Given the description of an element on the screen output the (x, y) to click on. 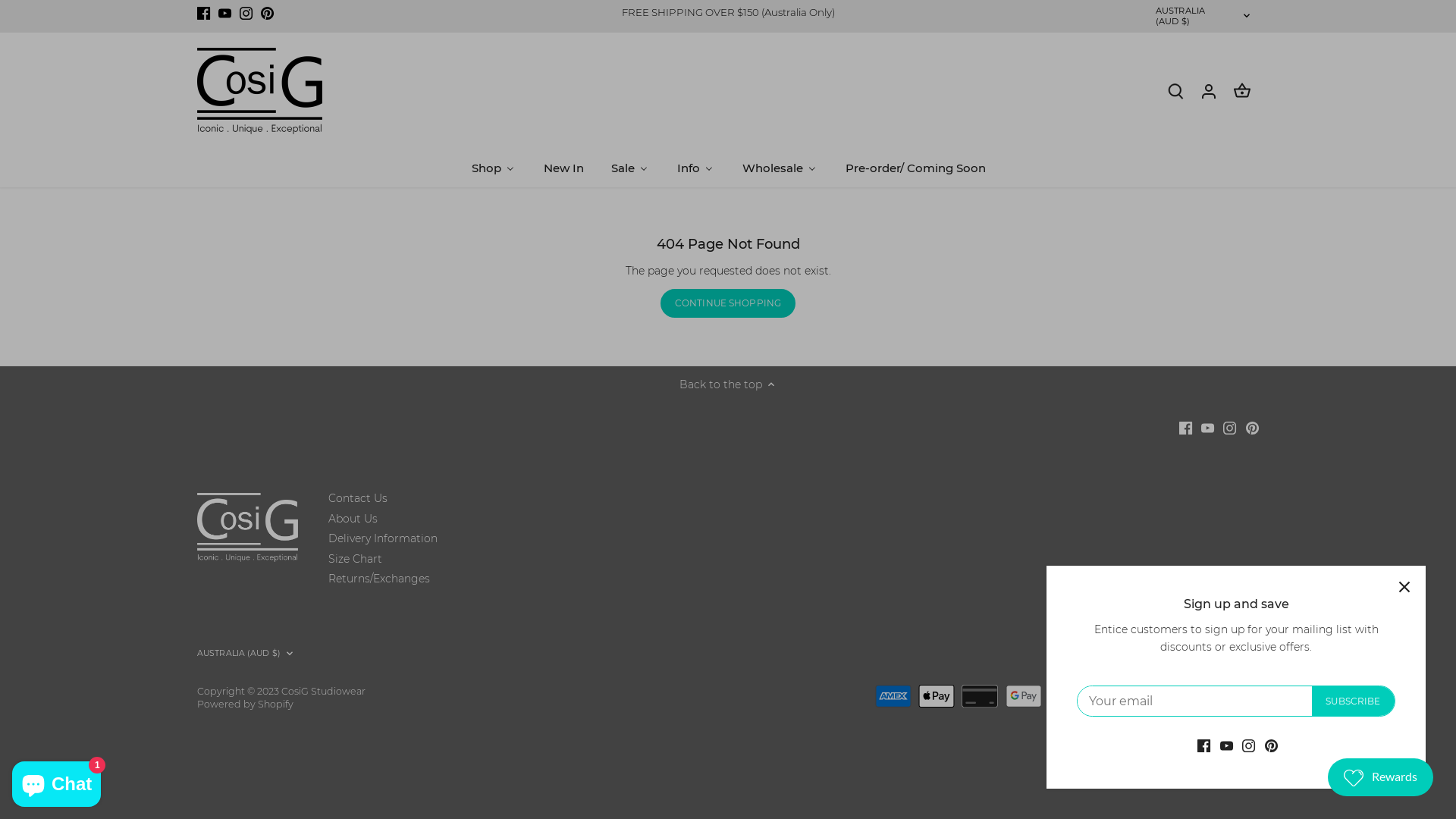
Delivery Information Element type: text (382, 538)
CONTINUE SHOPPING Element type: text (727, 302)
About Us Element type: text (352, 518)
Sale Element type: text (629, 168)
Facebook Element type: text (1184, 427)
Youtube Element type: text (224, 12)
Instagram Element type: text (1229, 427)
Wholesale Element type: text (779, 168)
AUSTRALIA (AUD $) Element type: text (246, 653)
Shop Element type: text (493, 168)
Shopify online store chat Element type: hover (56, 780)
Youtube Element type: text (1207, 427)
CosiG Studiowear Element type: text (323, 690)
Instagram Element type: text (245, 12)
Returns/Exchanges Element type: text (378, 578)
Info Element type: text (695, 168)
Go to cart Element type: hover (1242, 90)
Powered by Shopify Element type: text (245, 703)
Facebook Element type: text (203, 12)
AUSTRALIA (AUD $) Element type: text (1203, 16)
SUBSCRIBE Element type: text (1352, 700)
Contact Us Element type: text (357, 498)
Pinterest Element type: text (1251, 427)
Back to the top Element type: text (728, 384)
Pinterest Element type: text (266, 12)
Size Chart Element type: text (355, 559)
New In Element type: text (562, 168)
Pre-order/ Coming Soon Element type: text (914, 168)
